Given the description of an element on the screen output the (x, y) to click on. 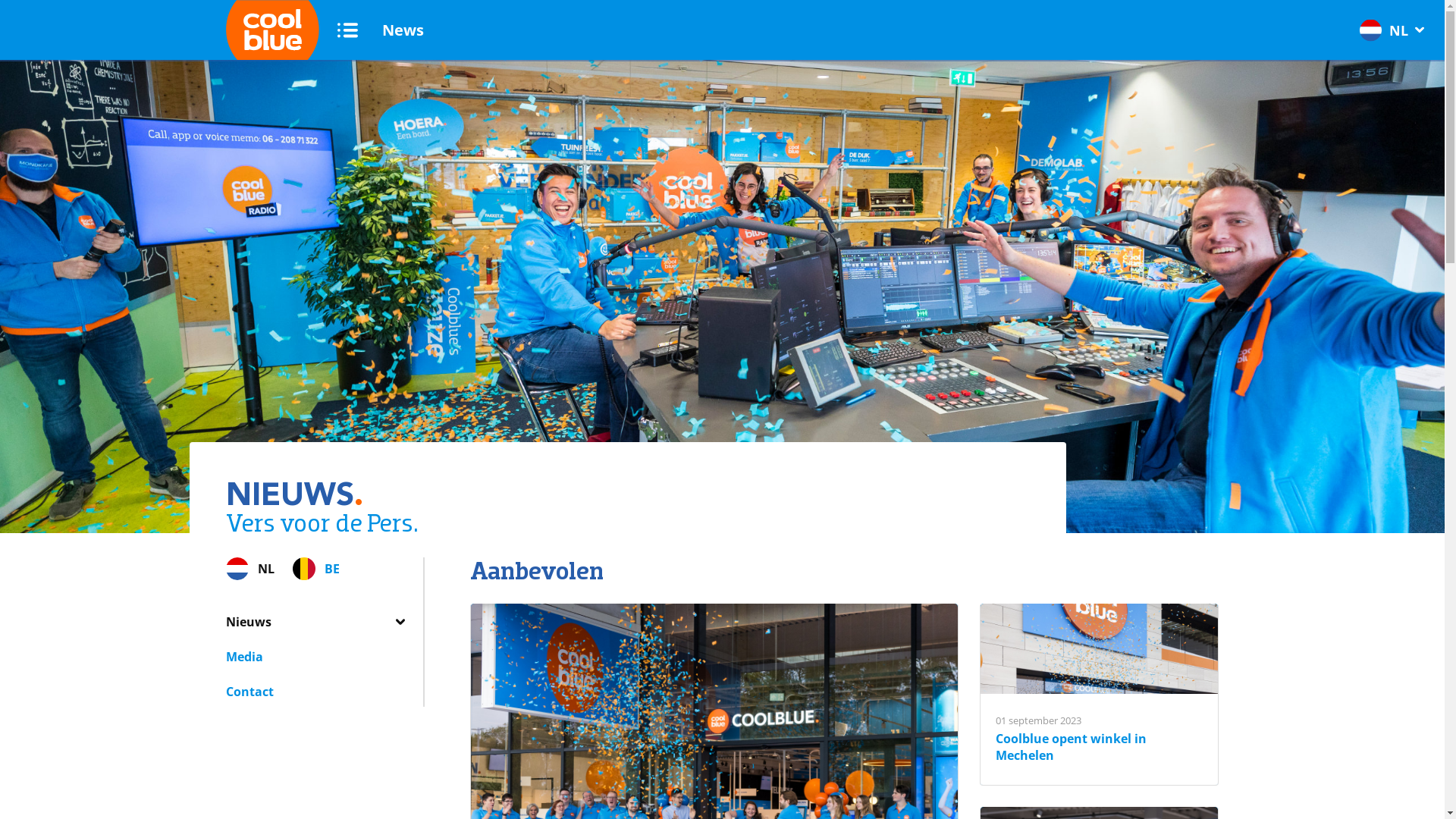
01 september 2023
Coolblue opent winkel in Mechelen Element type: text (1098, 693)
Nieuws Element type: text (248, 621)
NL Element type: text (249, 568)
Aanbevolen Element type: text (536, 569)
The Coolblue Newsroom Element type: hover (722, 266)
Media Element type: text (244, 656)
BE Element type: text (315, 568)
Contact Element type: text (249, 691)
